Given the description of an element on the screen output the (x, y) to click on. 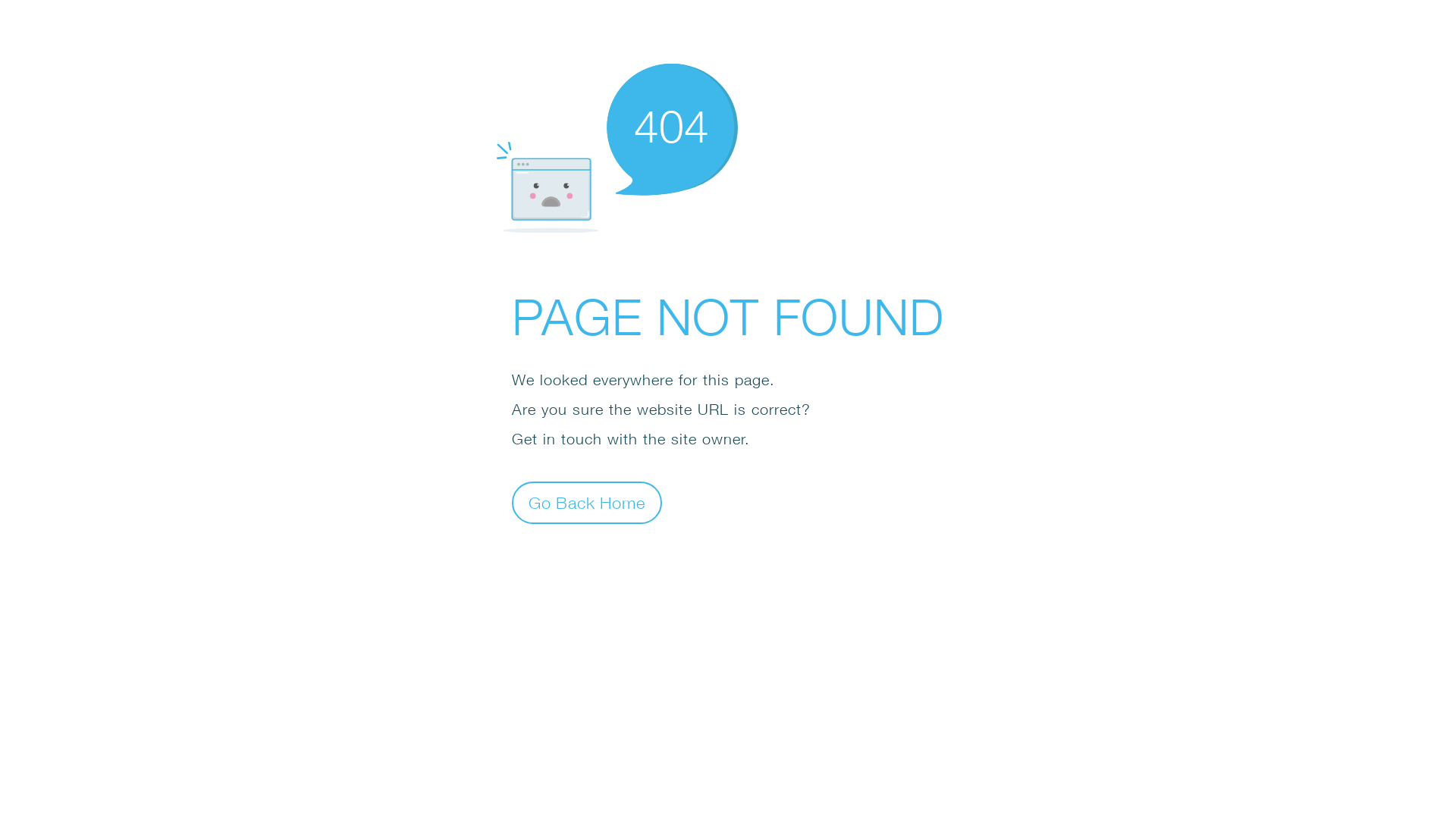
Go Back Home Element type: text (586, 502)
